Given the description of an element on the screen output the (x, y) to click on. 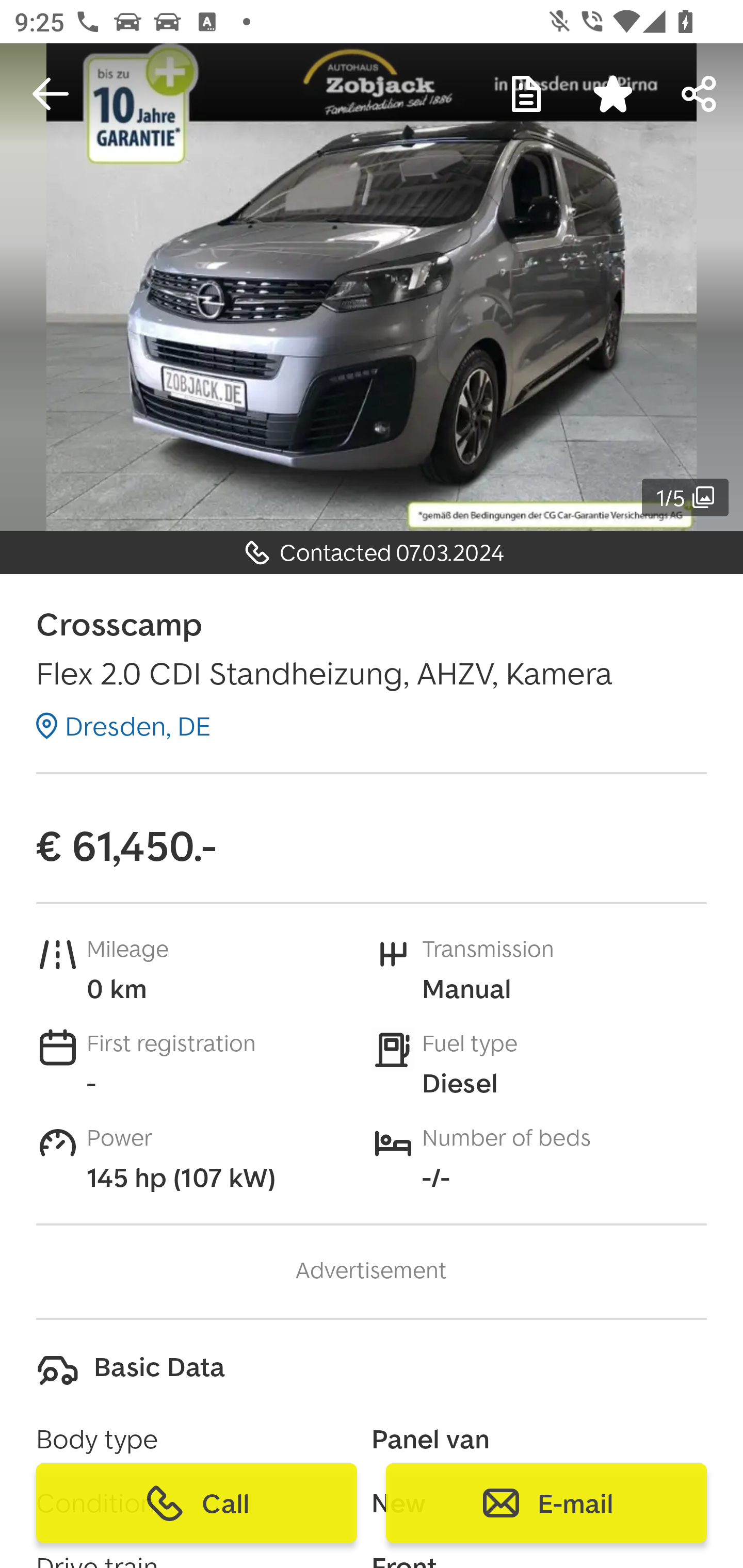
Navigate up (50, 93)
My Notes (525, 93)
Saved (612, 93)
Forward (699, 93)
Dresden, DE (123, 725)
Call (196, 1502)
E-mail (545, 1502)
